Given the description of an element on the screen output the (x, y) to click on. 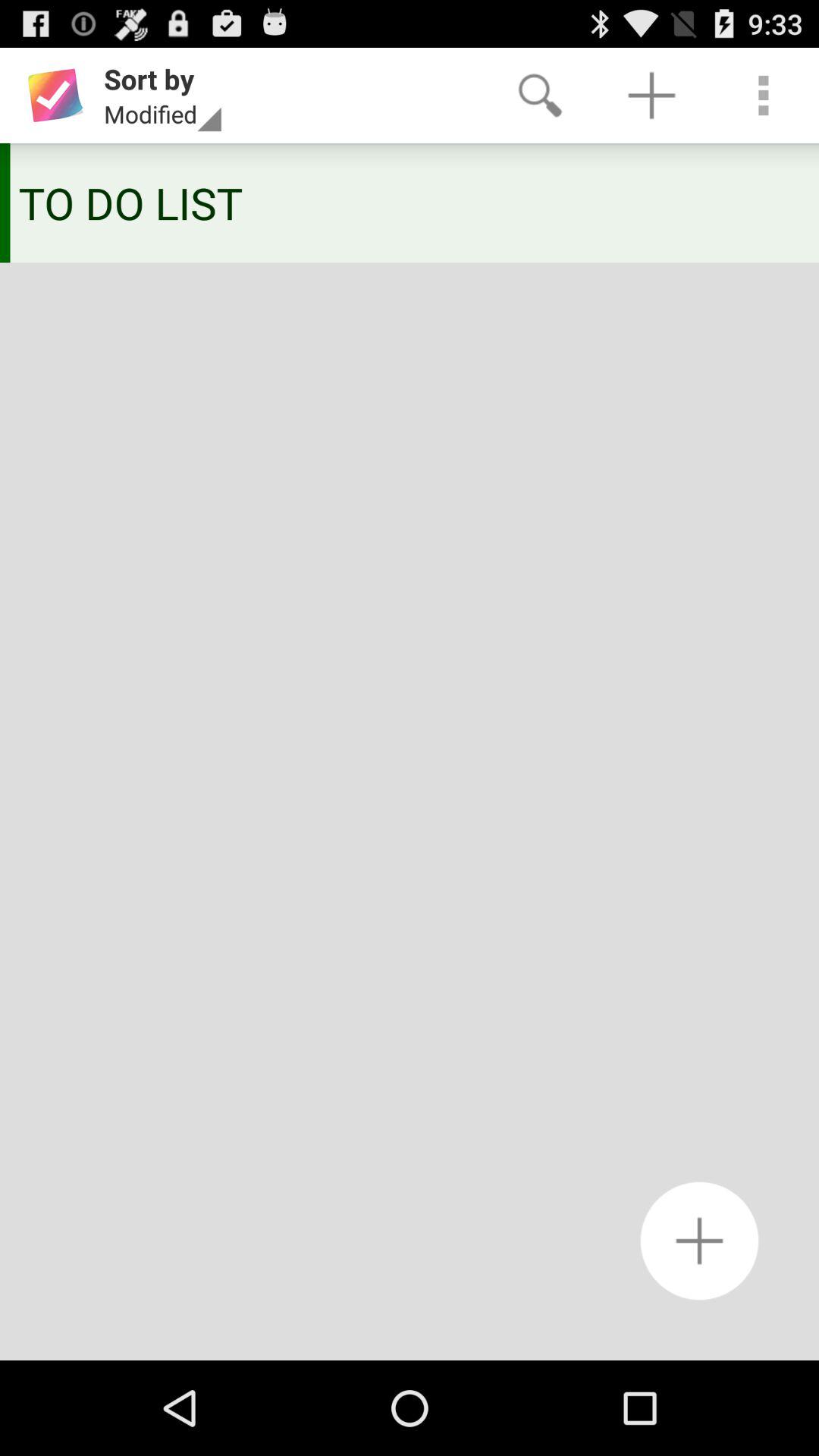
press item to the left of to do list (5, 202)
